Given the description of an element on the screen output the (x, y) to click on. 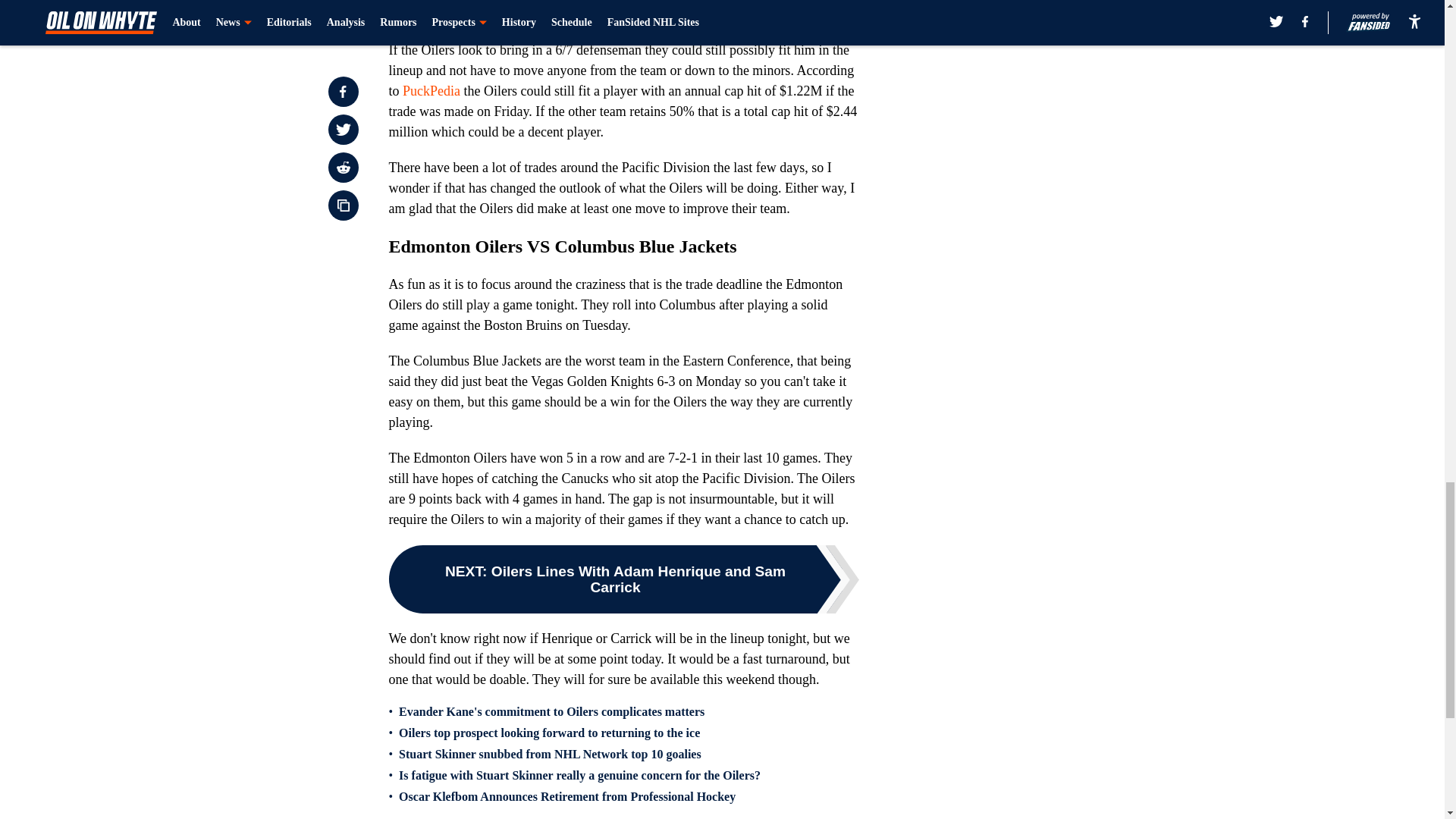
NEXT: Oilers Lines With Adam Henrique and Sam Carrick (623, 579)
Stuart Skinner snubbed from NHL Network top 10 goalies (549, 754)
Oilers top prospect looking forward to returning to the ice (549, 733)
Oscar Klefbom Announces Retirement from Professional Hockey (566, 796)
Evander Kane's commitment to Oilers complicates matters (551, 712)
PuckPedia (433, 90)
